Given the description of an element on the screen output the (x, y) to click on. 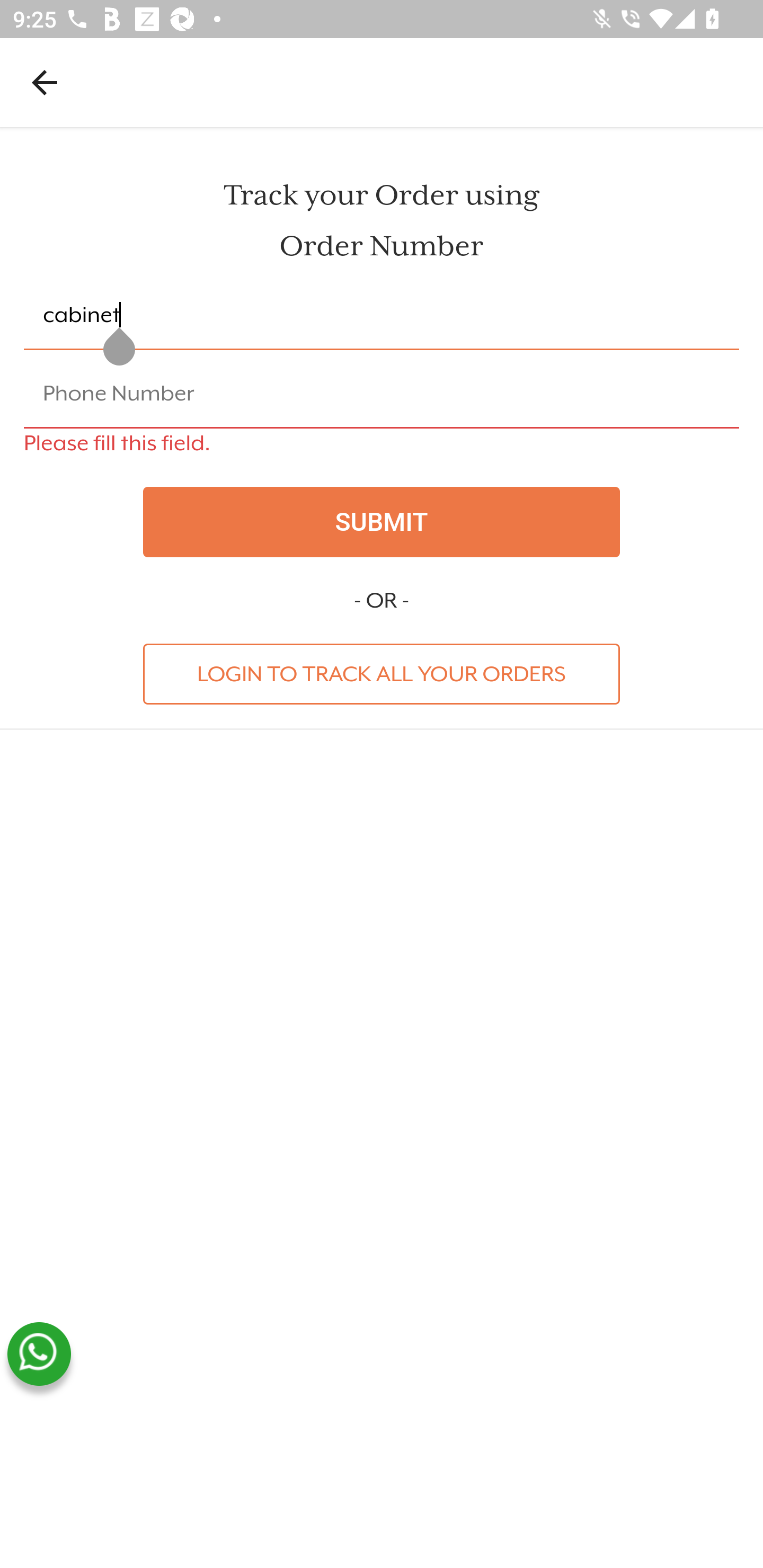
Navigate up (44, 82)
cabinet (381, 315)
SUBMIT (381, 522)
LOGIN TO TRACK ALL YOUR ORDERS (381, 673)
whatsapp (38, 1353)
